Given the description of an element on the screen output the (x, y) to click on. 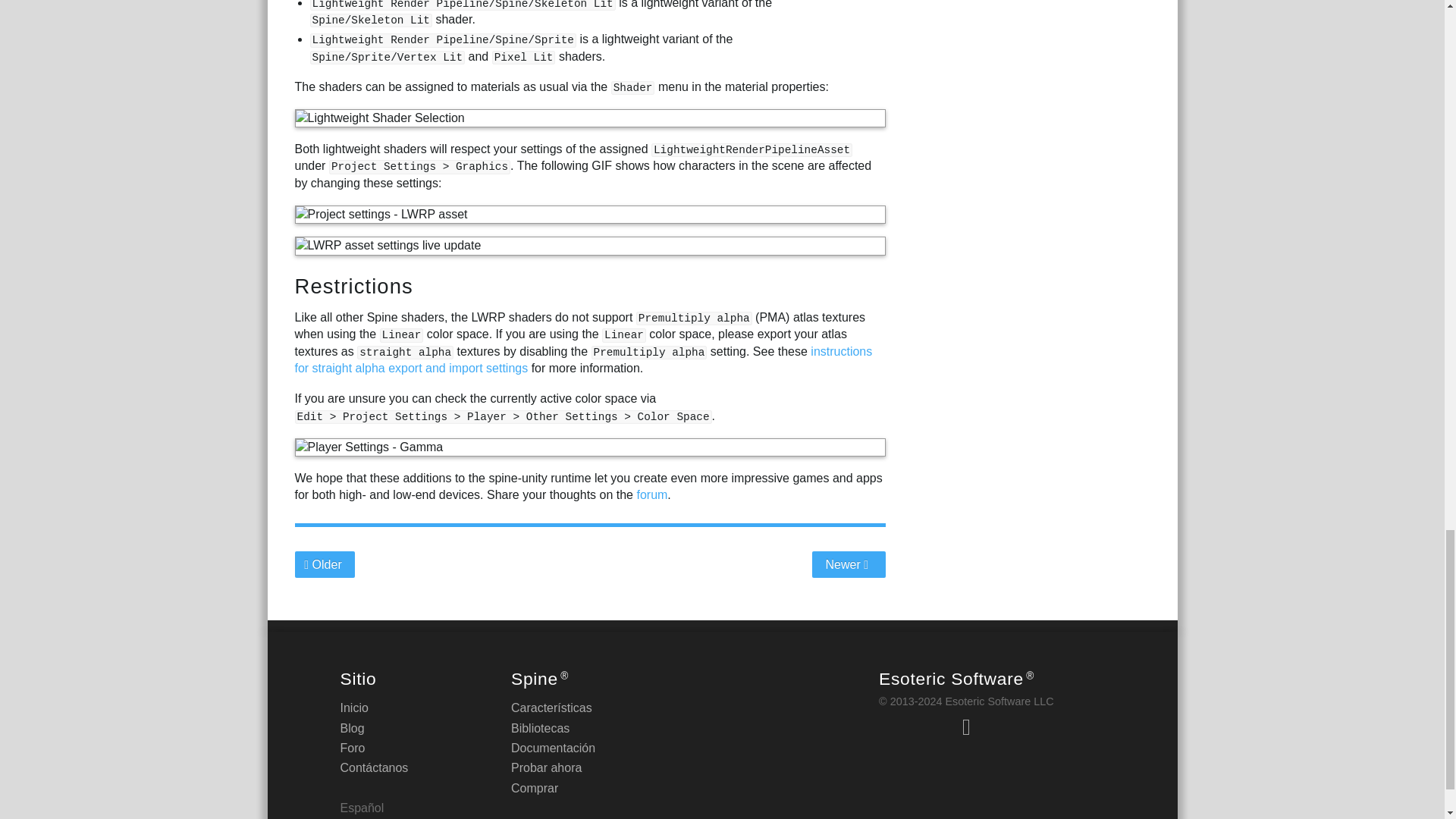
Restrictions (353, 286)
